Given the description of an element on the screen output the (x, y) to click on. 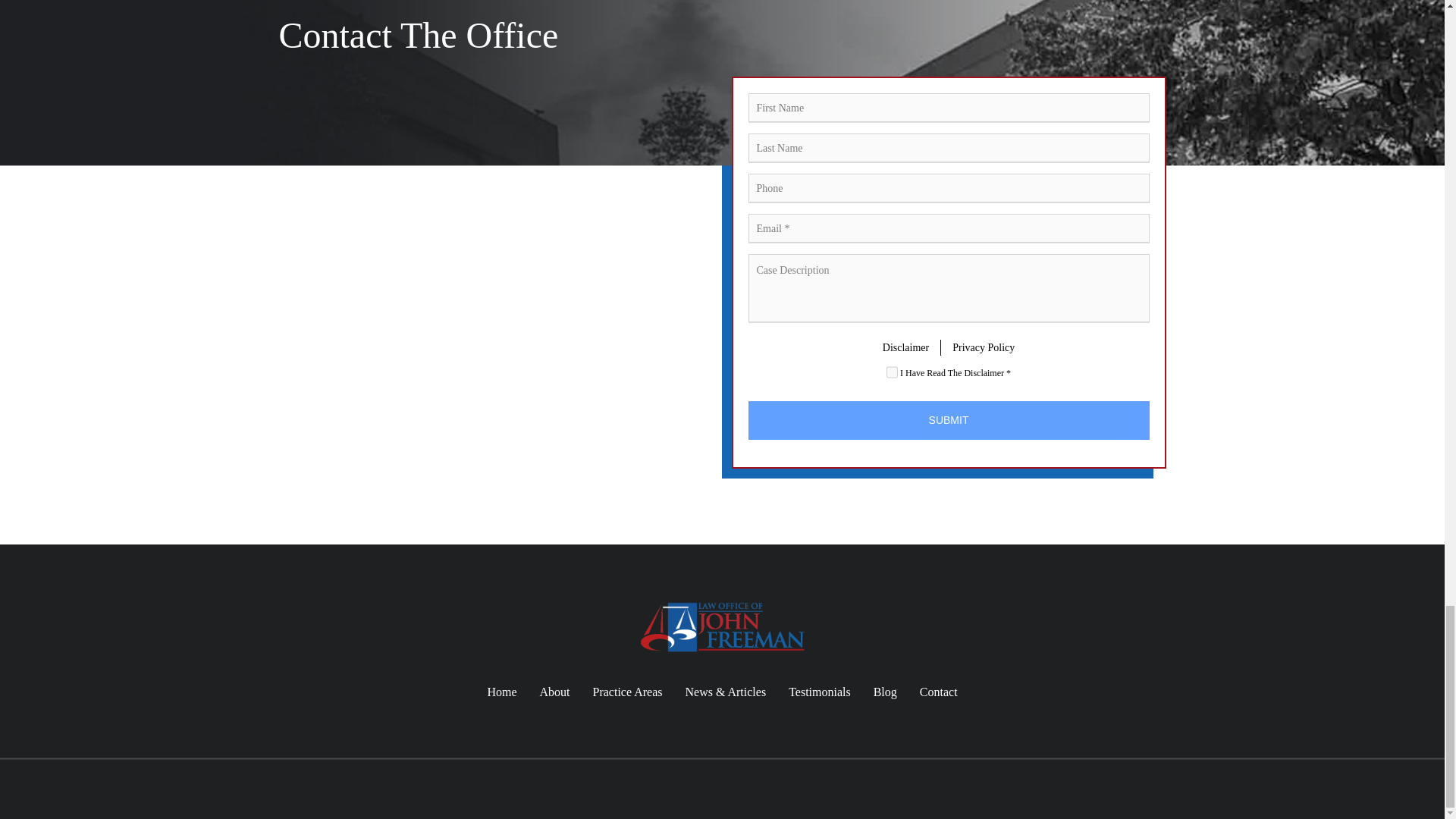
SUBMIT (948, 420)
